Given the description of an element on the screen output the (x, y) to click on. 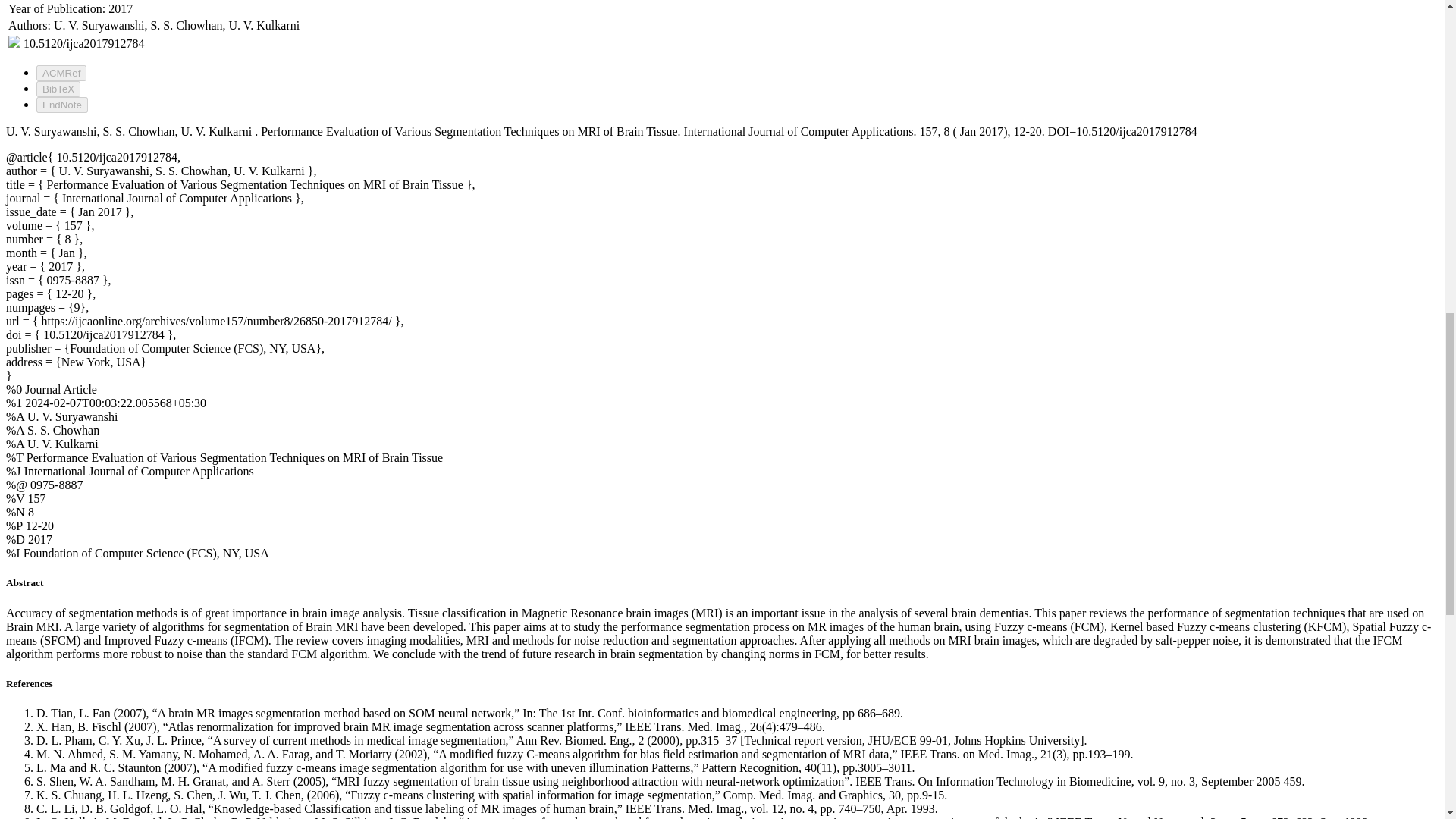
EndNote (61, 105)
BibTeX (58, 89)
ACMRef (60, 73)
